Given the description of an element on the screen output the (x, y) to click on. 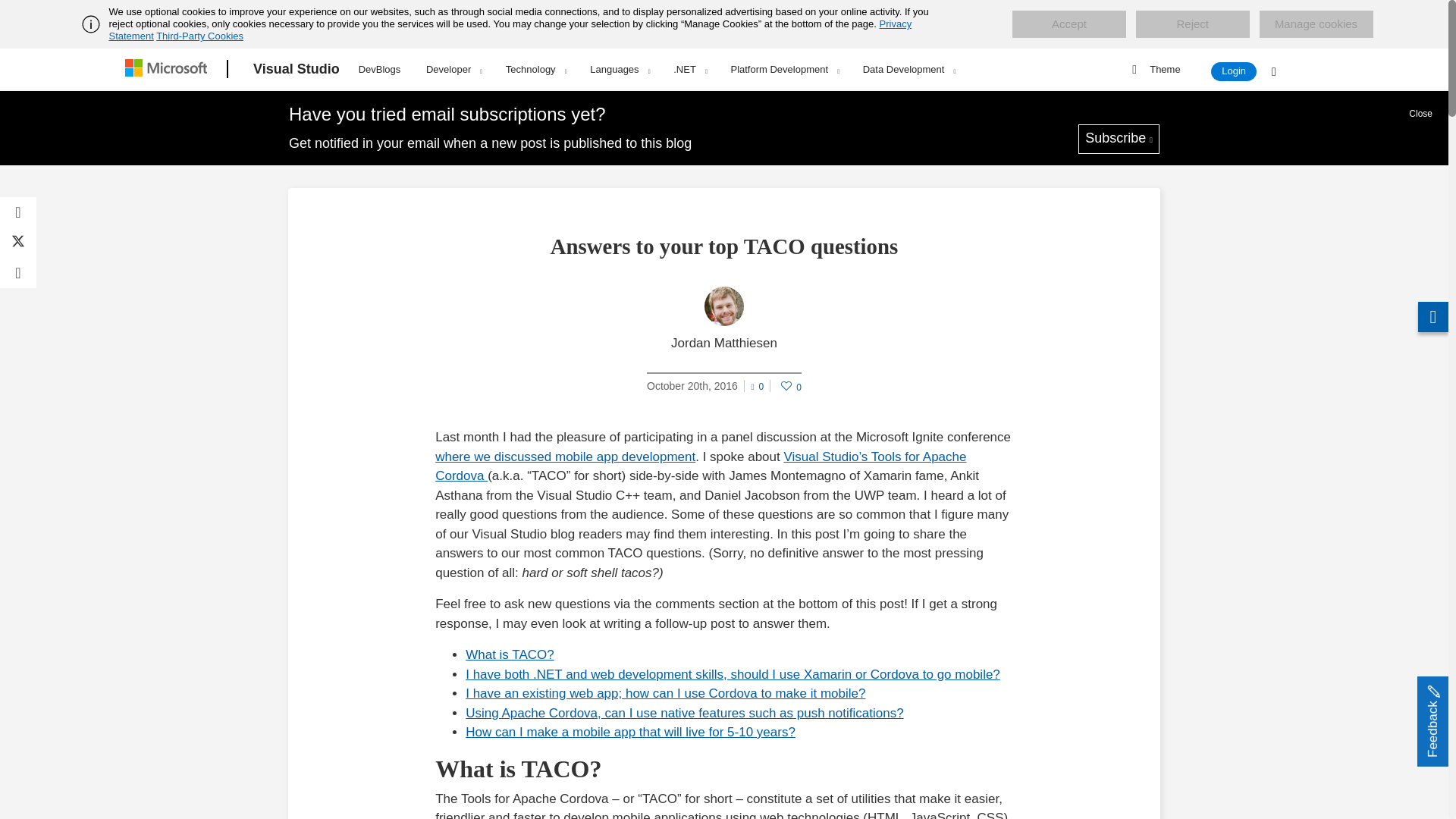
Reject (1192, 23)
Languages (619, 69)
Visual Studio (296, 69)
Manage cookies (1316, 23)
Developer (454, 69)
DevBlogs (379, 67)
Privacy Statement (510, 29)
Accept (1068, 23)
Third-Party Cookies (199, 35)
Technology (536, 69)
